Given the description of an element on the screen output the (x, y) to click on. 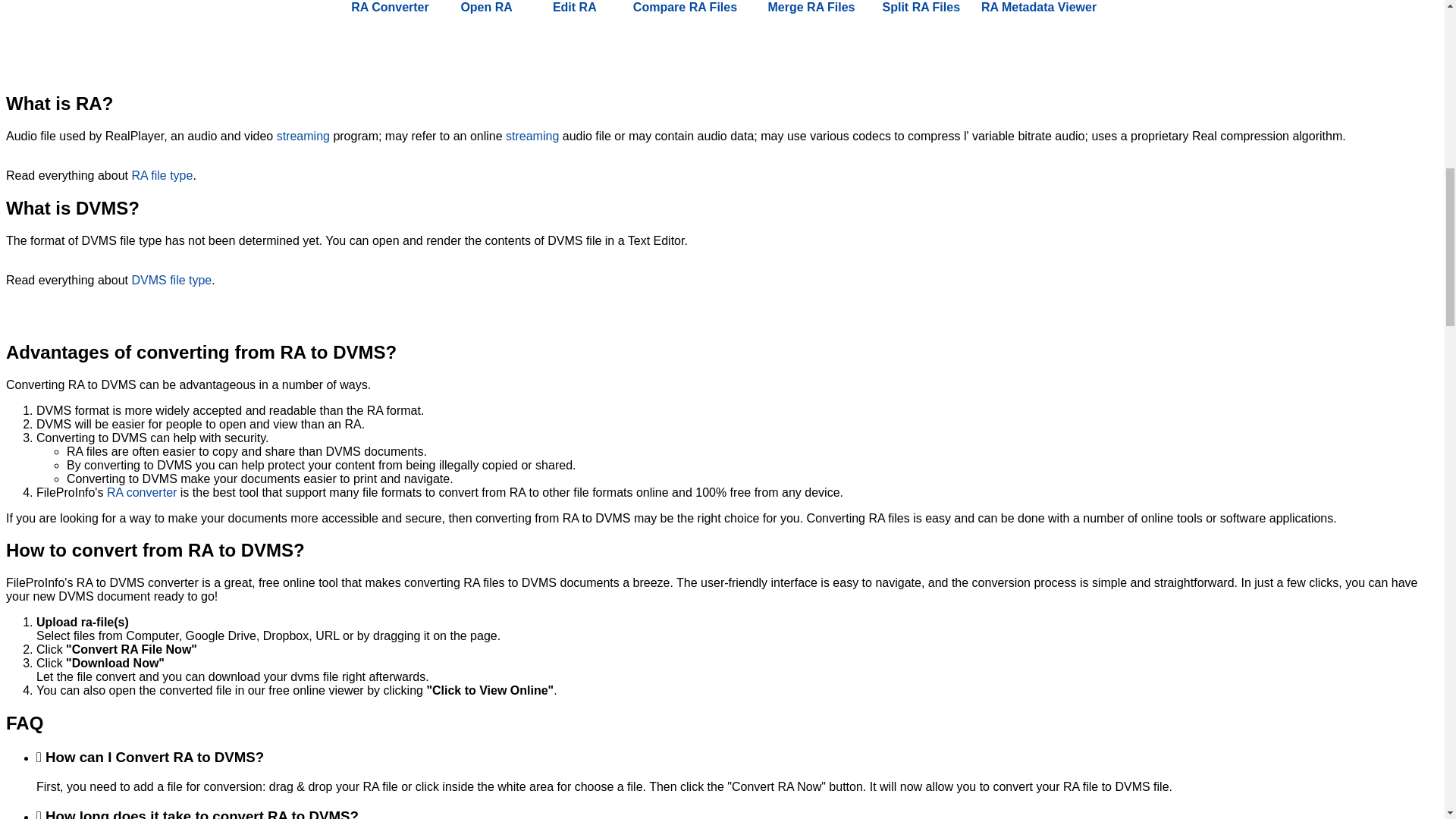
RA Viewer, open RA file online and free. (485, 6)
Compare RA Files (684, 6)
Split RA Files (920, 6)
Edit RA (574, 6)
streaming (532, 135)
Open RA (485, 6)
Merge RA Files (811, 6)
streaming (303, 135)
DVMS file type (171, 279)
RA file type (161, 174)
RA converter (141, 491)
RA Converter (389, 6)
RA Converter. (389, 6)
RA Metadata Viewer (1038, 6)
